Given the description of an element on the screen output the (x, y) to click on. 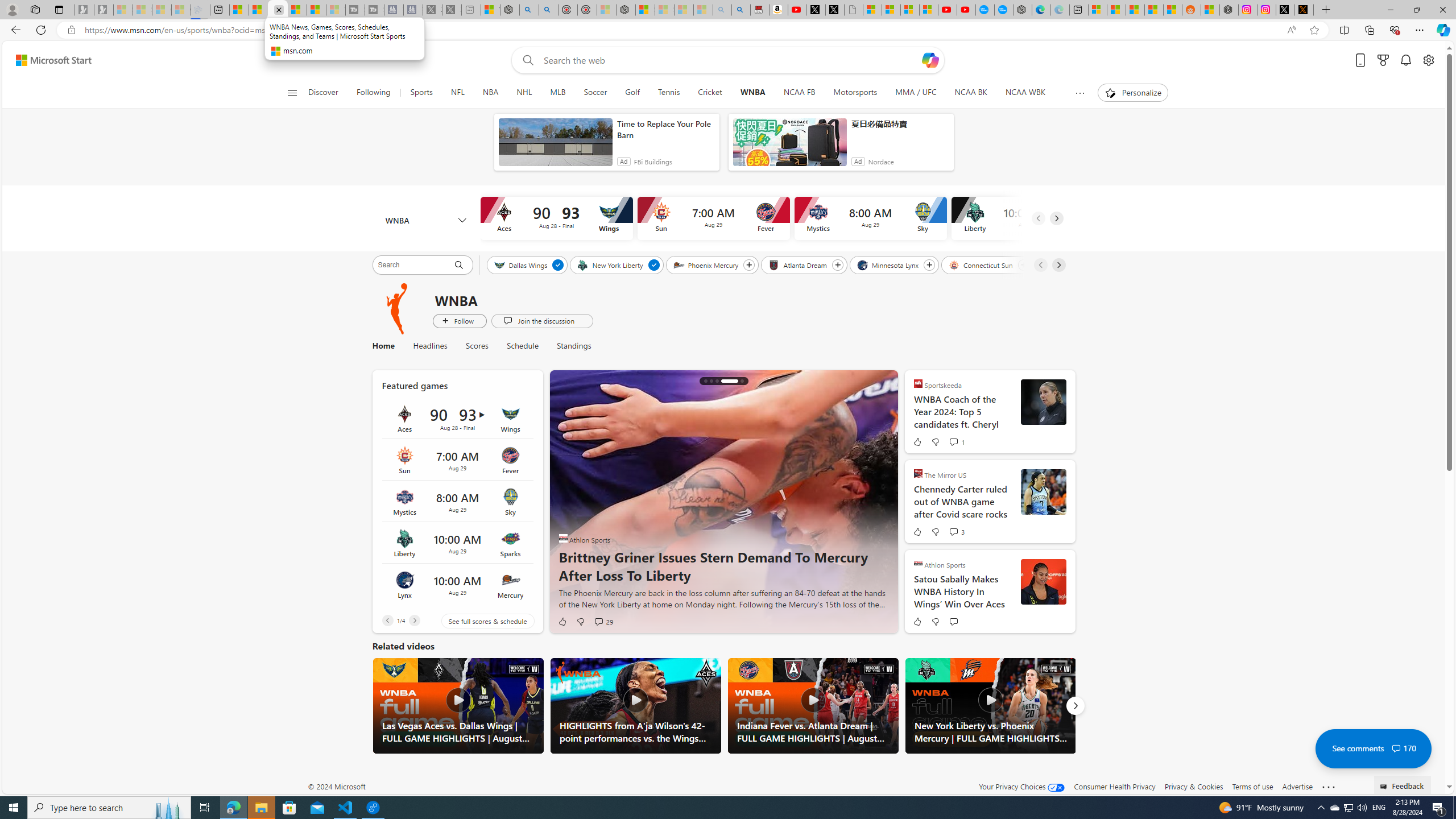
help.x.com | 524: A timeout occurred (1303, 9)
Next (1074, 705)
Cricket (709, 92)
Your Privacy Choices (1021, 786)
WNBA (752, 92)
Your Privacy Choices (1021, 785)
View comments 1 Comment (953, 441)
Follow Atlanta Dream (837, 265)
Motorsports (854, 92)
Phoenix Mercury (705, 264)
Nordace - Nordace has arrived Hong Kong (1022, 9)
